Given the description of an element on the screen output the (x, y) to click on. 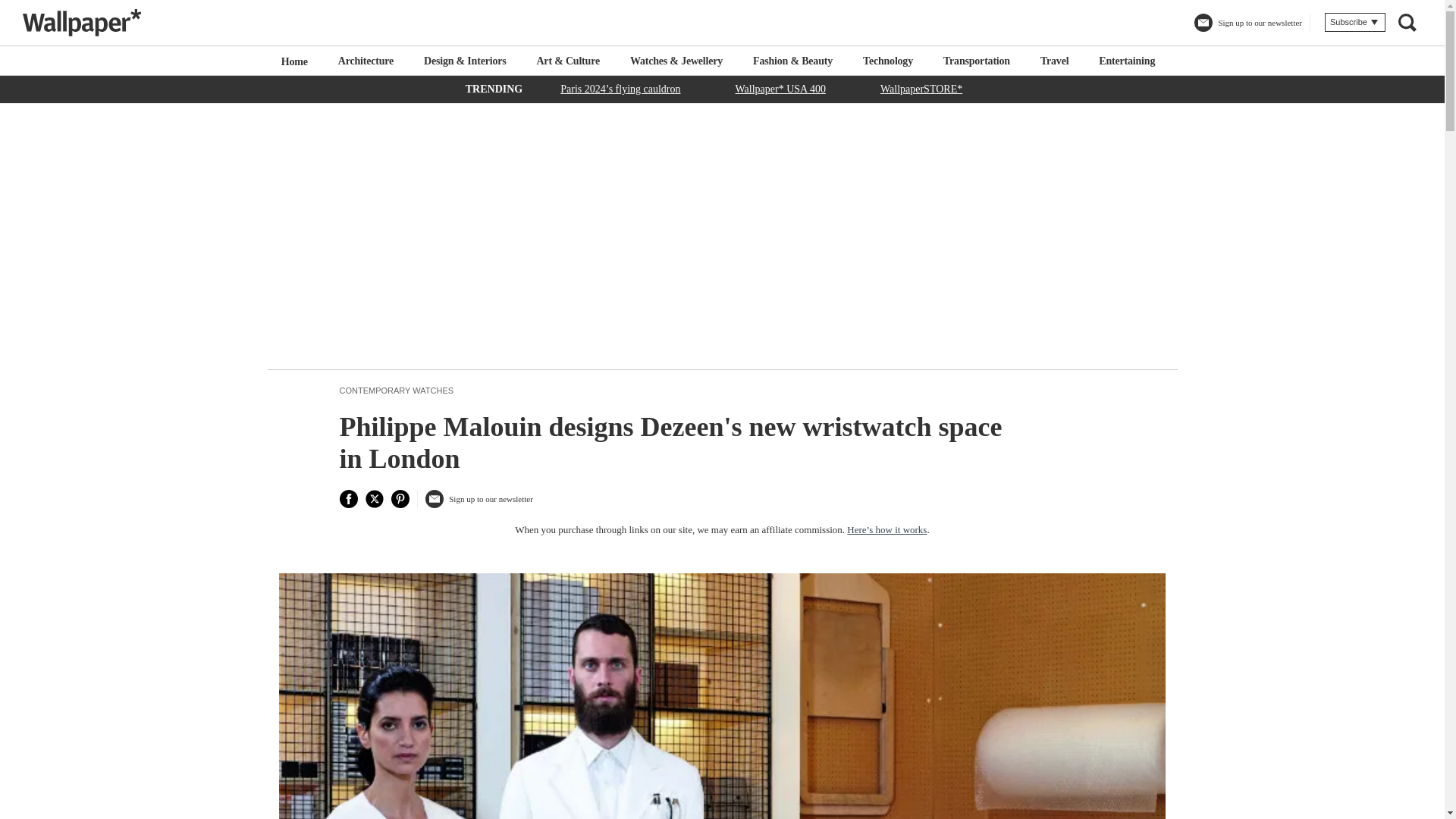
CONTEMPORARY WATCHES (396, 389)
Sign up to our newsletter (1247, 28)
Technology (887, 60)
Travel (1054, 60)
Transportation (976, 60)
Entertaining (1126, 60)
Architecture (365, 60)
Sign up to our newsletter (478, 504)
